Given the description of an element on the screen output the (x, y) to click on. 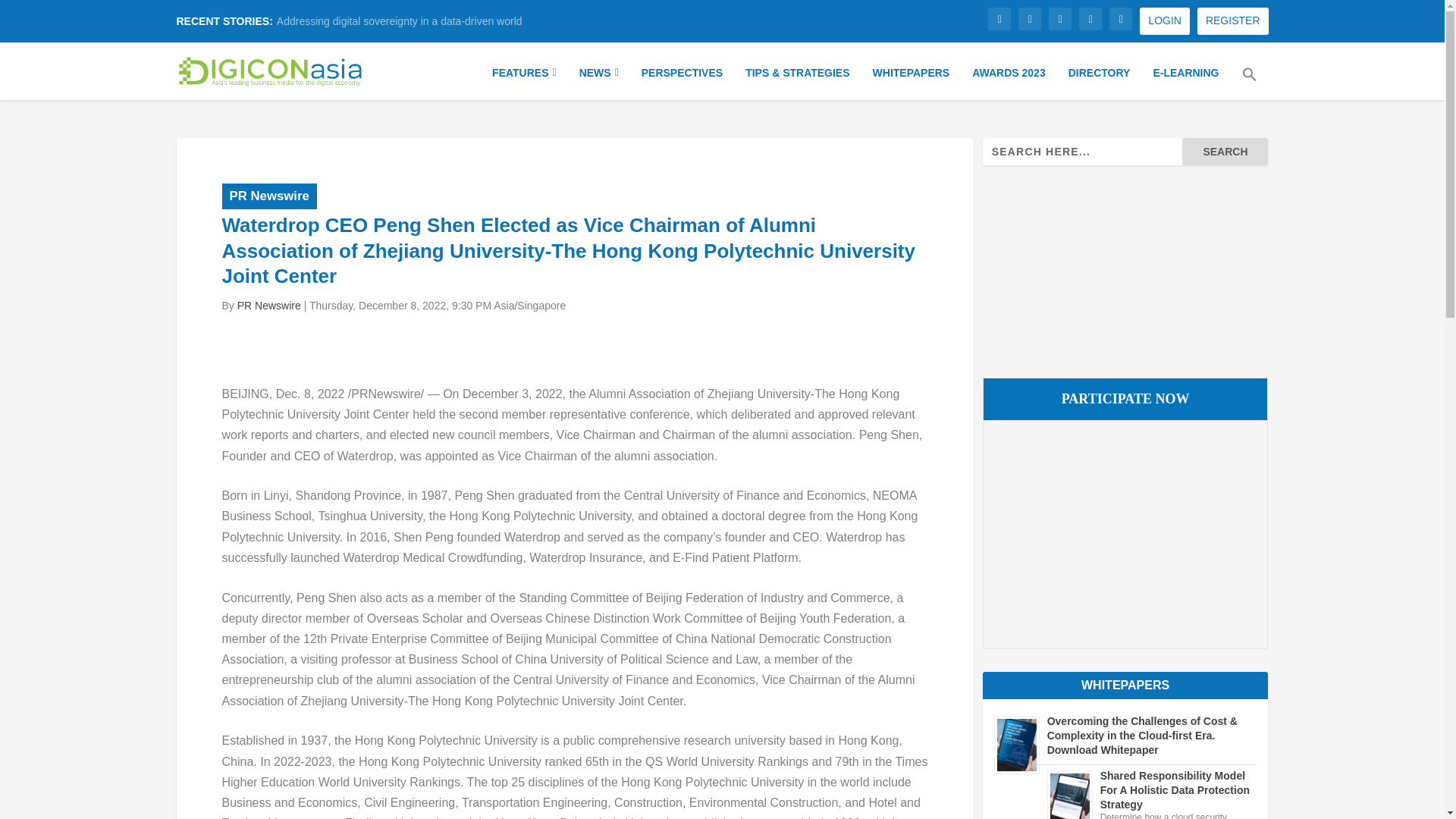
FEATURES (524, 80)
Search (1225, 151)
NEWS (598, 80)
REGISTER (1232, 21)
Search (1225, 151)
LOGIN (1164, 21)
Posts by PR Newswire (269, 305)
Addressing digital sovereignty in a data-driven world (399, 21)
PERSPECTIVES (682, 80)
